Given the description of an element on the screen output the (x, y) to click on. 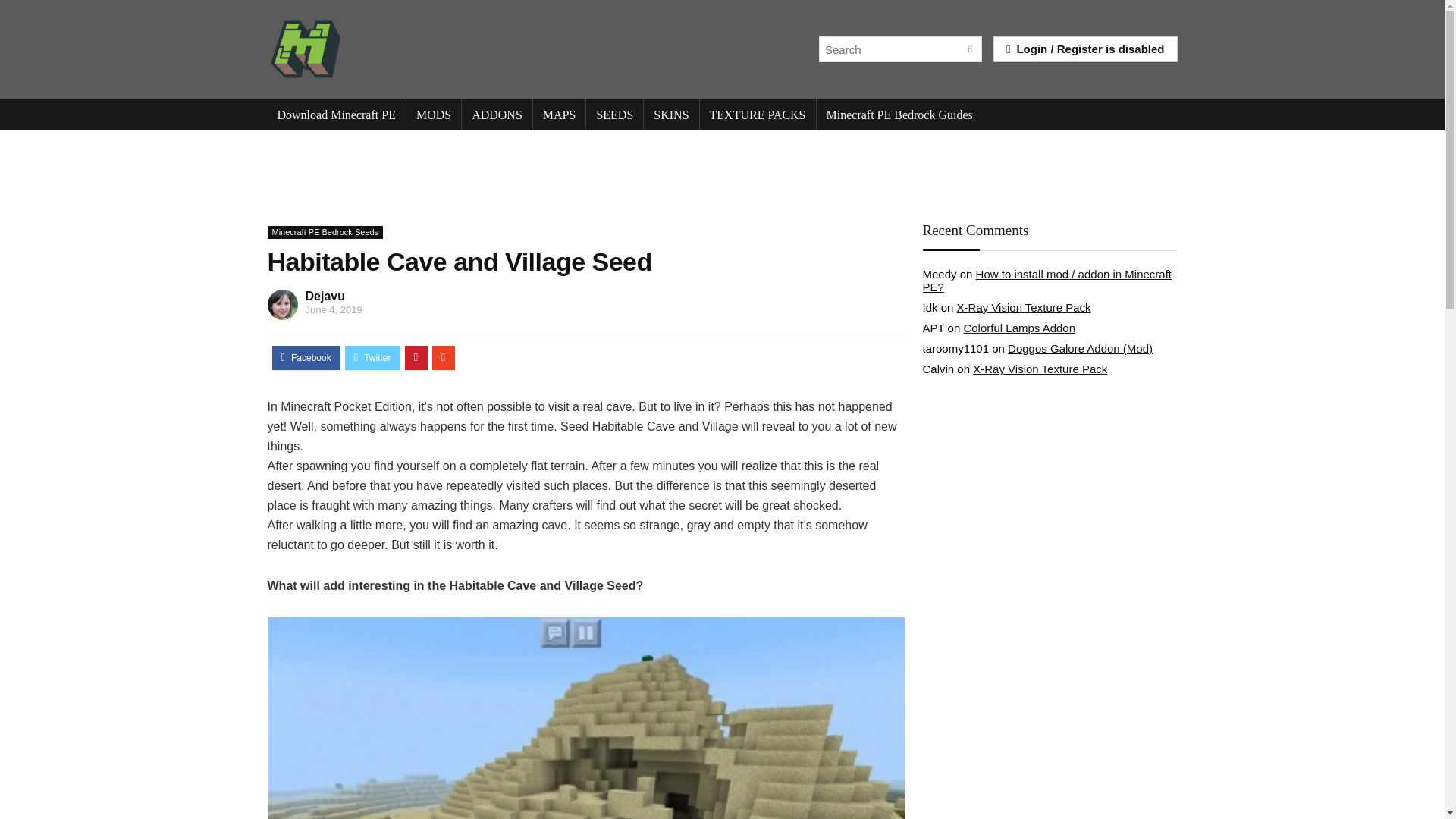
Minecraft PE Bedrock Guides (899, 114)
SKINS (670, 114)
Download Minecraft PE (335, 114)
MODS (433, 114)
View all posts in Minecraft PE Bedrock Seeds (324, 232)
MAPS (559, 114)
ADDONS (496, 114)
TEXTURE PACKS (757, 114)
Minecraft PE Bedrock Seeds (324, 232)
Dejavu (323, 295)
